Given the description of an element on the screen output the (x, y) to click on. 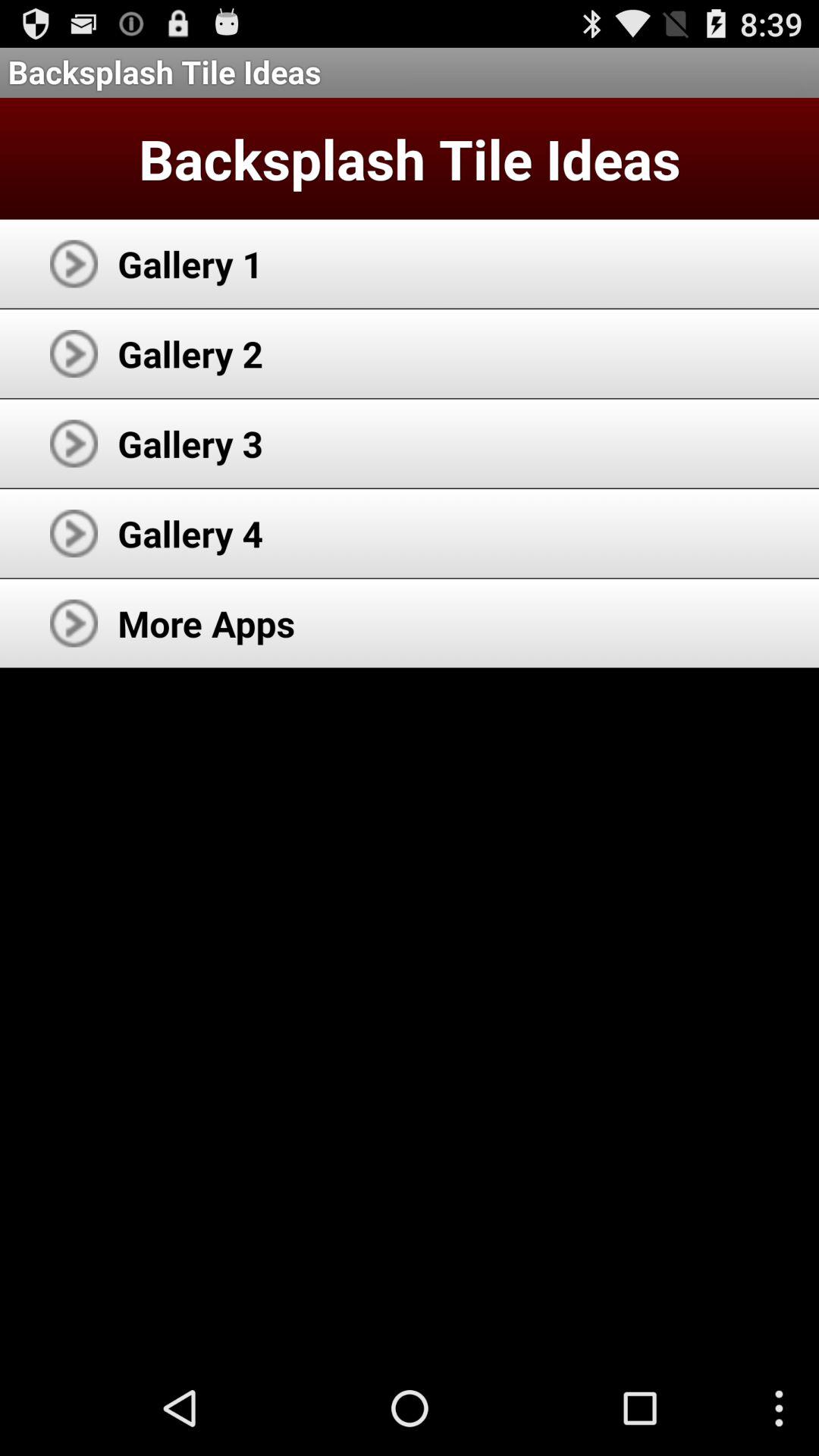
press the more apps app (206, 622)
